Given the description of an element on the screen output the (x, y) to click on. 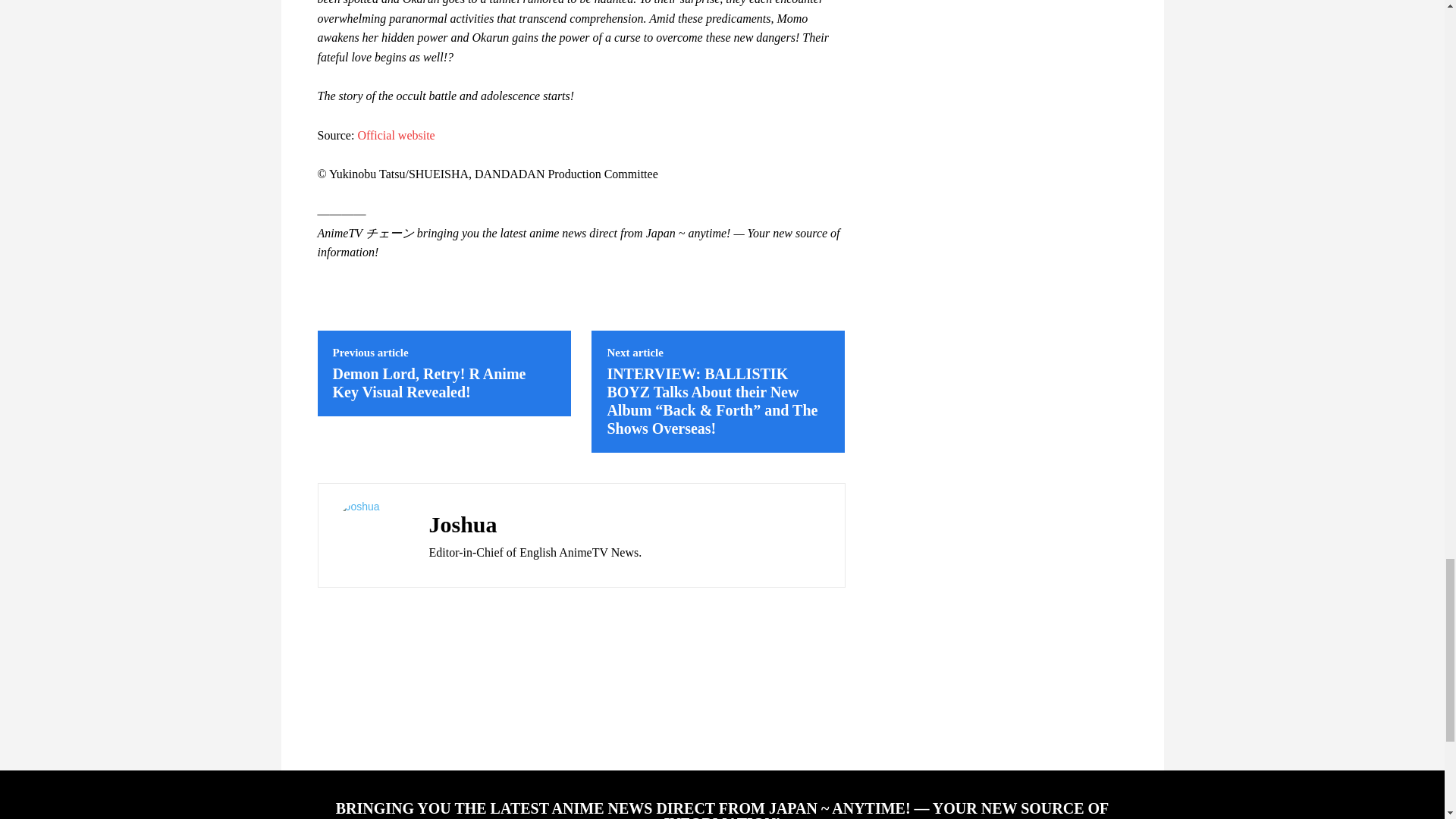
Joshua (369, 534)
Joshua (535, 524)
Official website (394, 134)
Demon Lord, Retry! R Anime Key Visual Revealed! (428, 382)
